Given the description of an element on the screen output the (x, y) to click on. 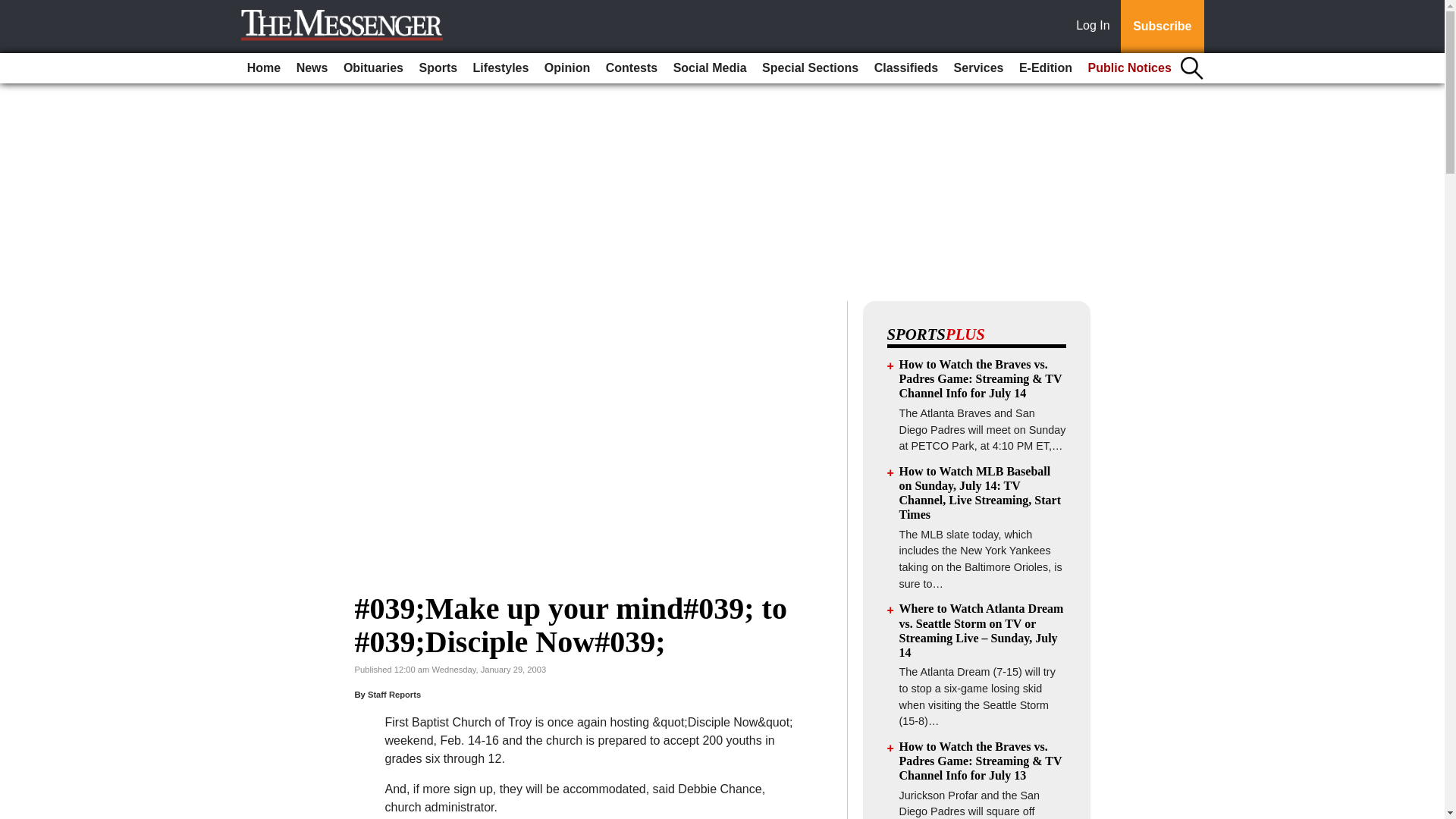
E-Edition (1045, 68)
Services (978, 68)
Contests (631, 68)
Opinion (566, 68)
Sports (437, 68)
News (311, 68)
Classifieds (905, 68)
Lifestyles (501, 68)
Social Media (709, 68)
Log In (1095, 26)
Obituaries (373, 68)
Home (263, 68)
Special Sections (809, 68)
Subscribe (1162, 26)
